Given the description of an element on the screen output the (x, y) to click on. 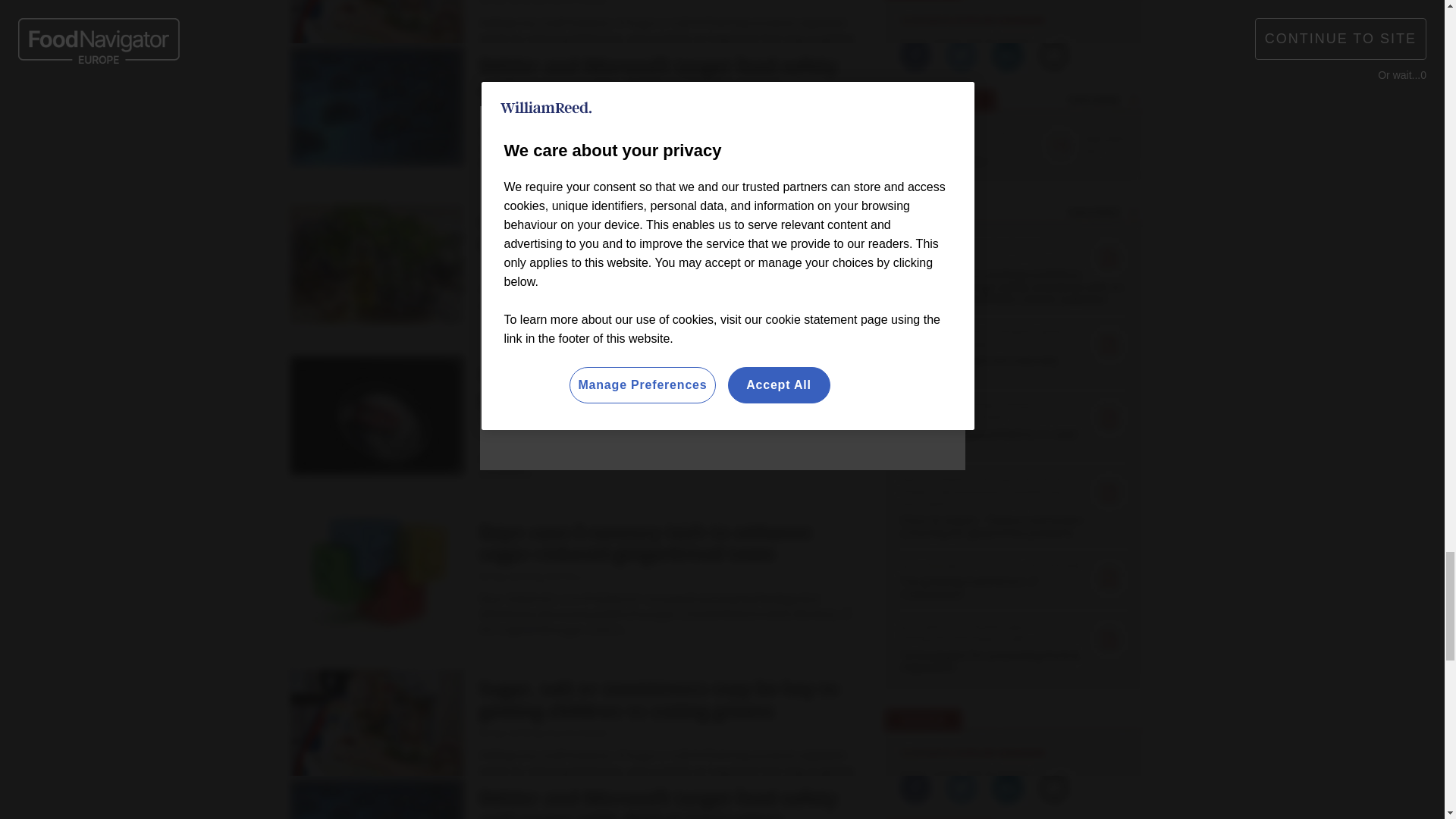
3rd party ad content (570, 138)
